Given the description of an element on the screen output the (x, y) to click on. 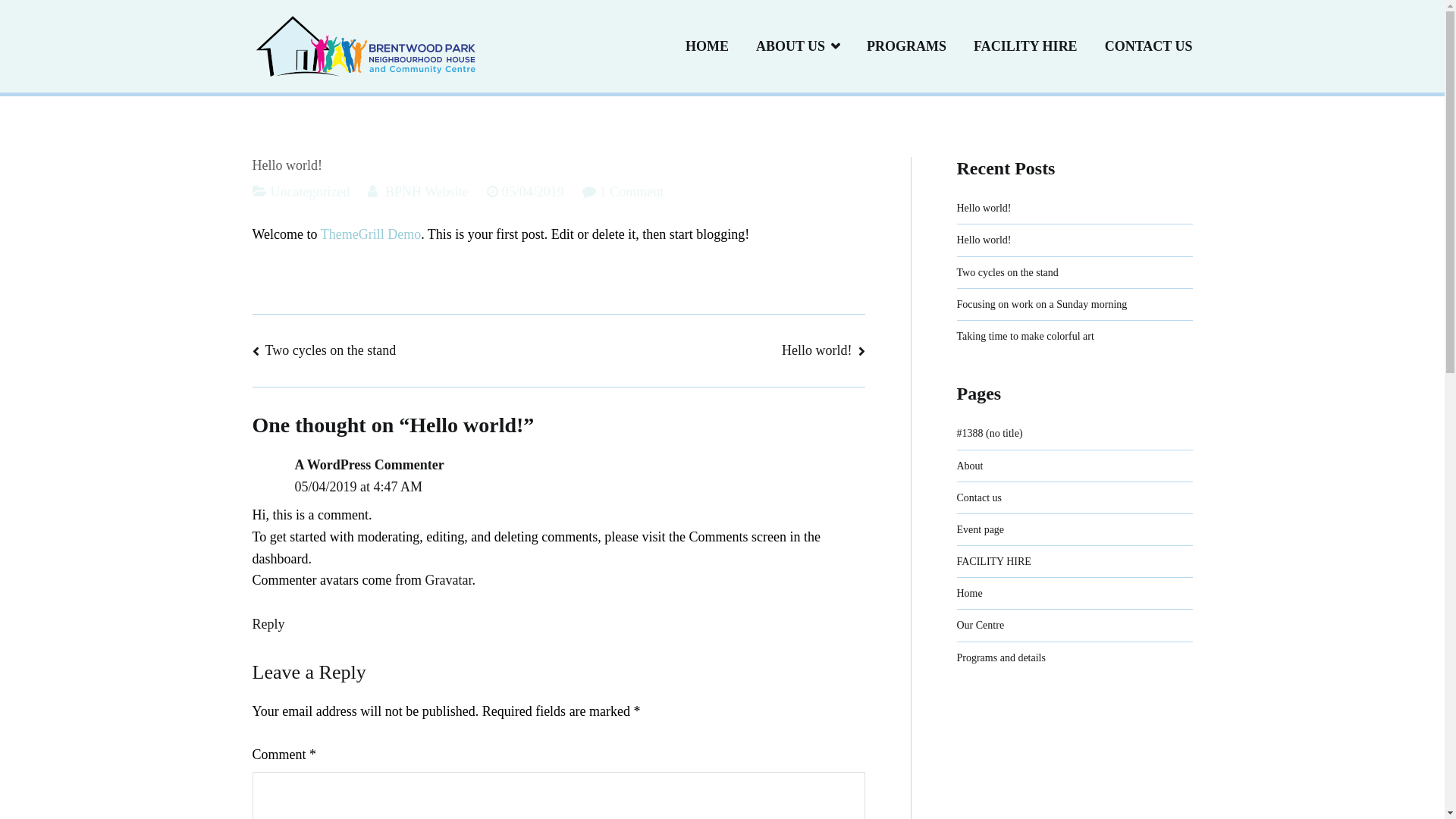
Uncategorized Element type: text (309, 191)
CONTACT US Element type: text (1148, 46)
Gravatar Element type: text (447, 579)
Programs and details Element type: text (1001, 657)
#1388 (no title) Element type: text (989, 432)
FACILITY HIRE Element type: text (994, 561)
Hello world! Element type: text (984, 239)
FACILITY HIRE Element type: text (1025, 46)
ThemeGrill Demo Element type: text (370, 233)
Hello world! Element type: text (984, 207)
Contact us Element type: text (979, 497)
ABOUT US Element type: text (797, 46)
PROGRAMS Element type: text (906, 46)
Brentwood Park Neighbourhood House Element type: text (609, 56)
Two cycles on the stand Element type: text (323, 349)
Focusing on work on a Sunday morning Element type: text (1042, 304)
Taking time to make colorful art Element type: text (1025, 335)
Our Centre Element type: text (980, 624)
Hello world! Element type: text (822, 349)
05/04/2019 Element type: text (533, 191)
Event page Element type: text (980, 529)
HOME Element type: text (706, 46)
Home Element type: text (969, 592)
05/04/2019 at 4:47 AM Element type: text (358, 486)
Reply Element type: text (267, 623)
1 Comment Element type: text (631, 191)
Two cycles on the stand Element type: text (1007, 272)
A WordPress Commenter Element type: text (368, 464)
BPNH Website Element type: text (426, 191)
About Element type: text (970, 465)
